Given the description of an element on the screen output the (x, y) to click on. 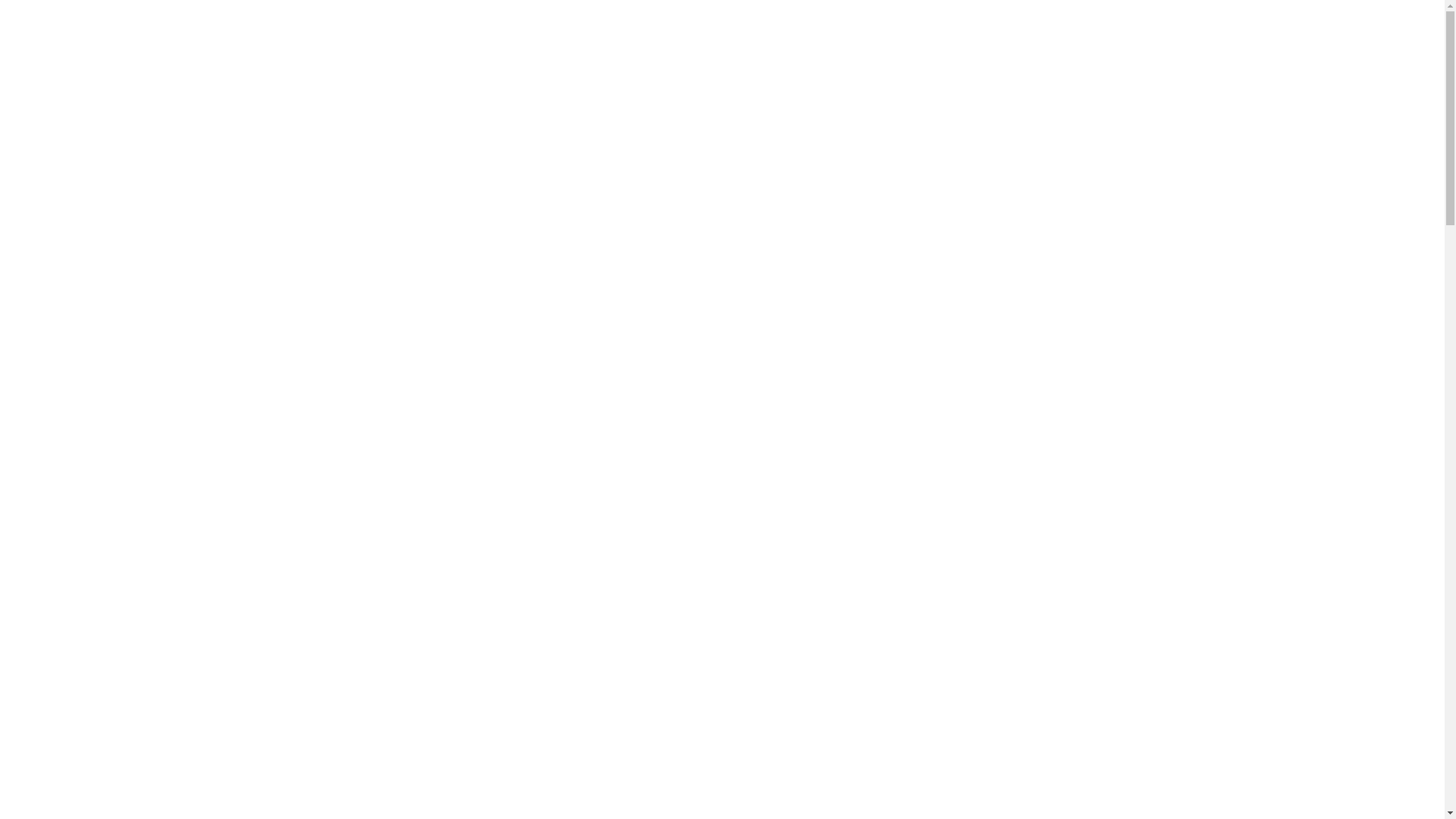
Stadt hat Zukunft Element type: text (757, 17)
Wer wir sind Element type: text (980, 17)
OK Element type: text (1087, 794)
Weiter Element type: text (1140, 455)
Was wir denken Element type: text (875, 17)
Wie wir arbeiten Element type: text (1087, 17)
Was entsteht Element type: text (1194, 17)
